Given the description of an element on the screen output the (x, y) to click on. 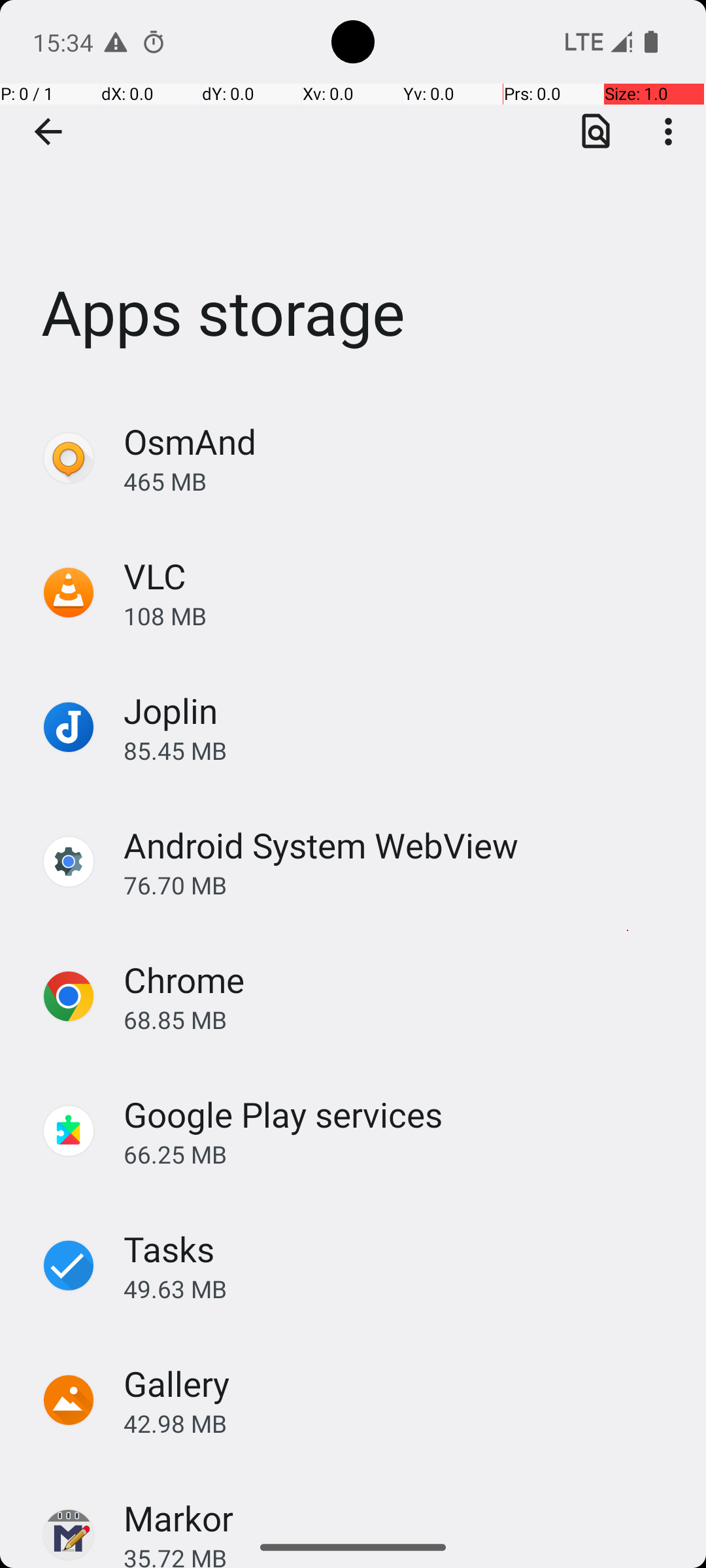
Apps storage Element type: android.widget.FrameLayout (353, 195)
OsmAnd Element type: android.widget.TextView (189, 441)
465 MB Element type: android.widget.TextView (400, 480)
108 MB Element type: android.widget.TextView (400, 615)
85.45 MB Element type: android.widget.TextView (400, 750)
Android System WebView Element type: android.widget.TextView (320, 844)
76.70 MB Element type: android.widget.TextView (400, 884)
68.85 MB Element type: android.widget.TextView (400, 1019)
Google Play services Element type: android.widget.TextView (283, 1114)
66.25 MB Element type: android.widget.TextView (400, 1153)
49.63 MB Element type: android.widget.TextView (400, 1288)
42.98 MB Element type: android.widget.TextView (400, 1422)
